Given the description of an element on the screen output the (x, y) to click on. 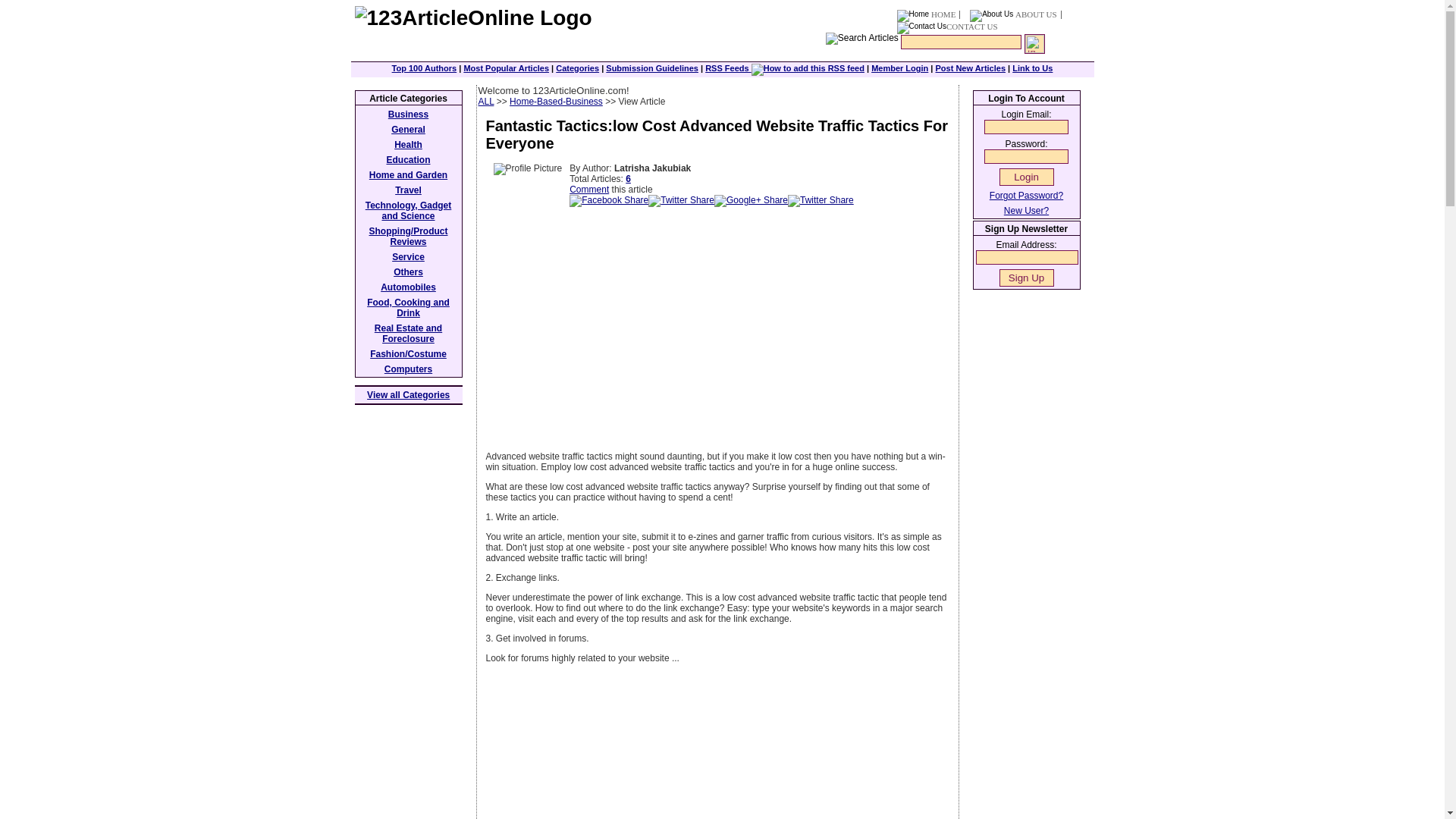
Home-Based-Business (555, 101)
Submission Guidelines (651, 67)
ALL (485, 101)
Most Popular Articles (505, 67)
Comment (588, 189)
Categories (577, 67)
Top 100 Authors (424, 67)
